Given the description of an element on the screen output the (x, y) to click on. 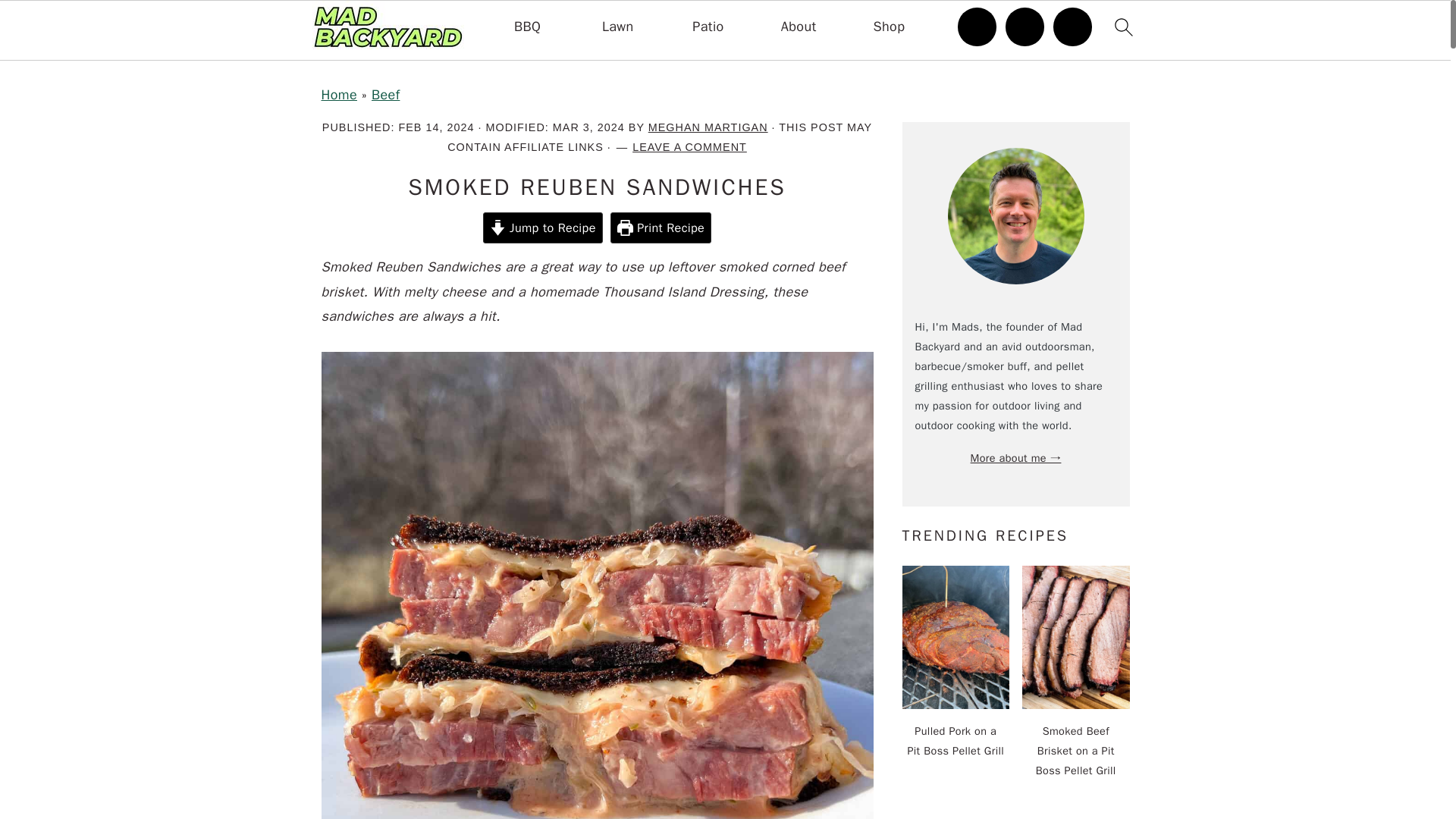
Patio (708, 27)
LEAVE A COMMENT (688, 146)
MEGHAN MARTIGAN (707, 127)
Beef (384, 94)
Home (338, 94)
search icon (1122, 26)
Print Recipe (660, 227)
Jump to Recipe (542, 227)
Shop (889, 27)
Lawn (617, 27)
BBQ (526, 27)
About (798, 27)
